Given the description of an element on the screen output the (x, y) to click on. 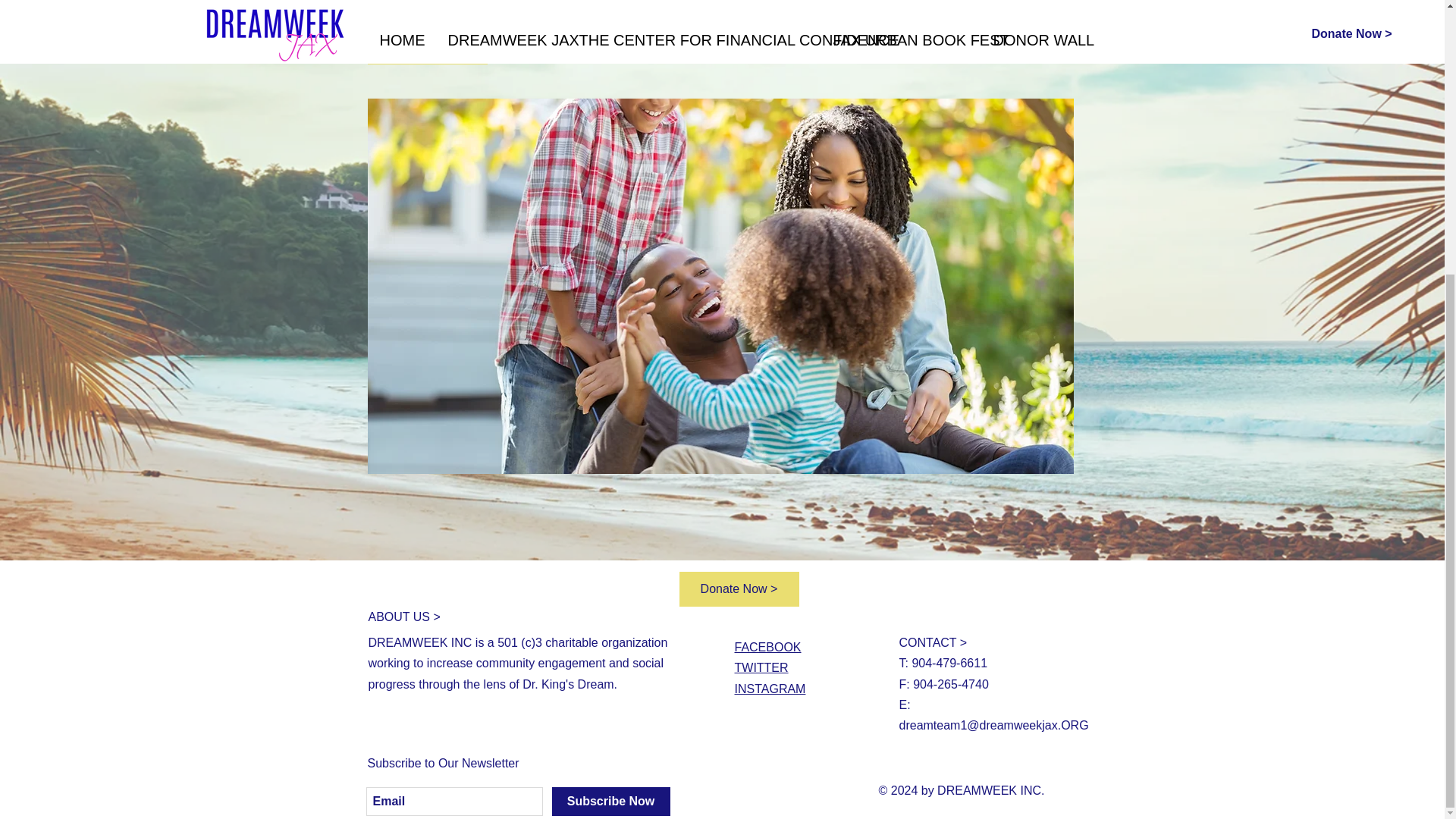
FACEBOOK (766, 646)
TWITTER (760, 667)
Subscribe Now (610, 801)
INSTAGRAM (769, 688)
